Given the description of an element on the screen output the (x, y) to click on. 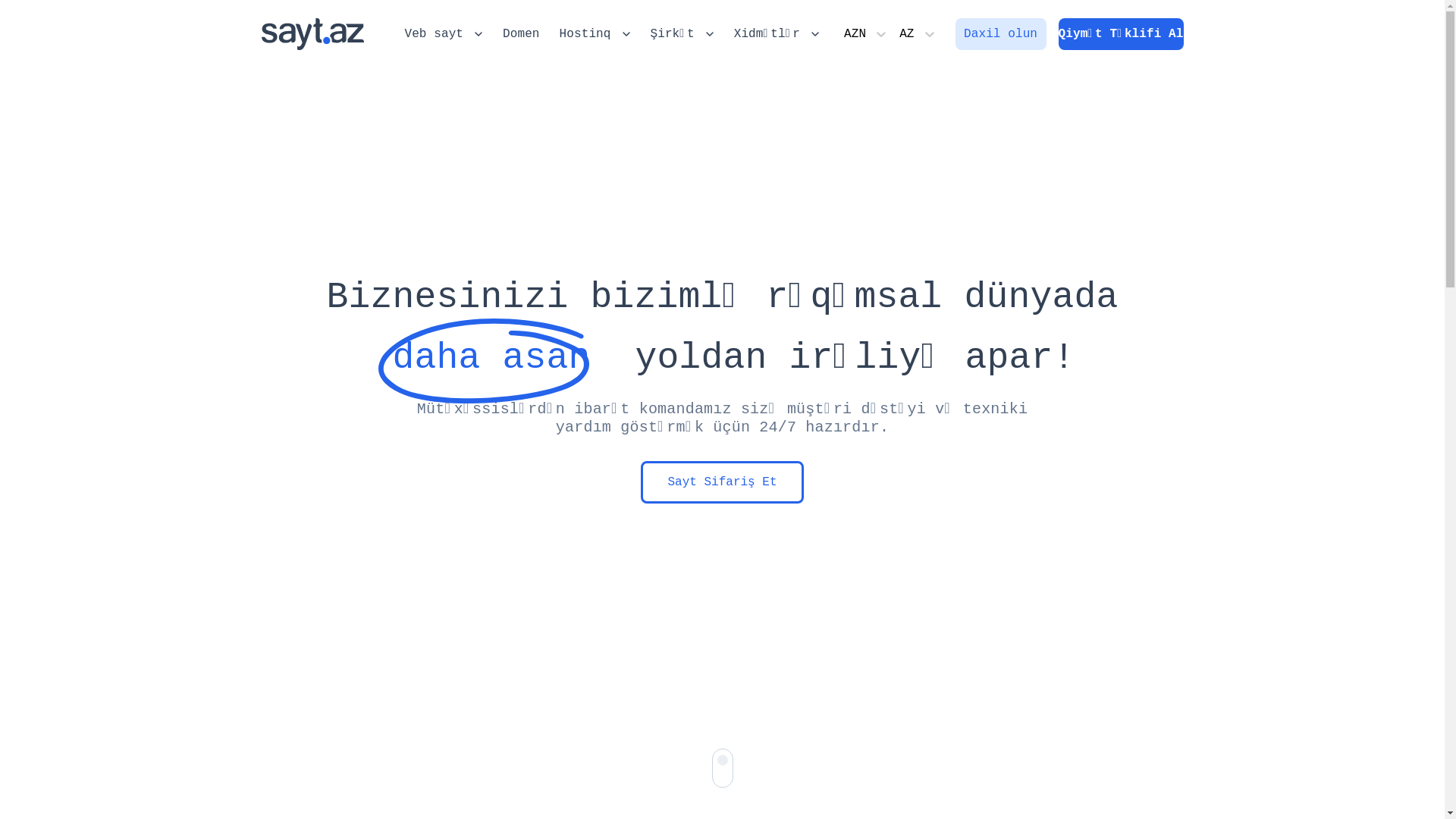
Daxil olun Element type: text (1000, 34)
Domen Element type: text (521, 34)
Your Company Element type: text (311, 33)
